Given the description of an element on the screen output the (x, y) to click on. 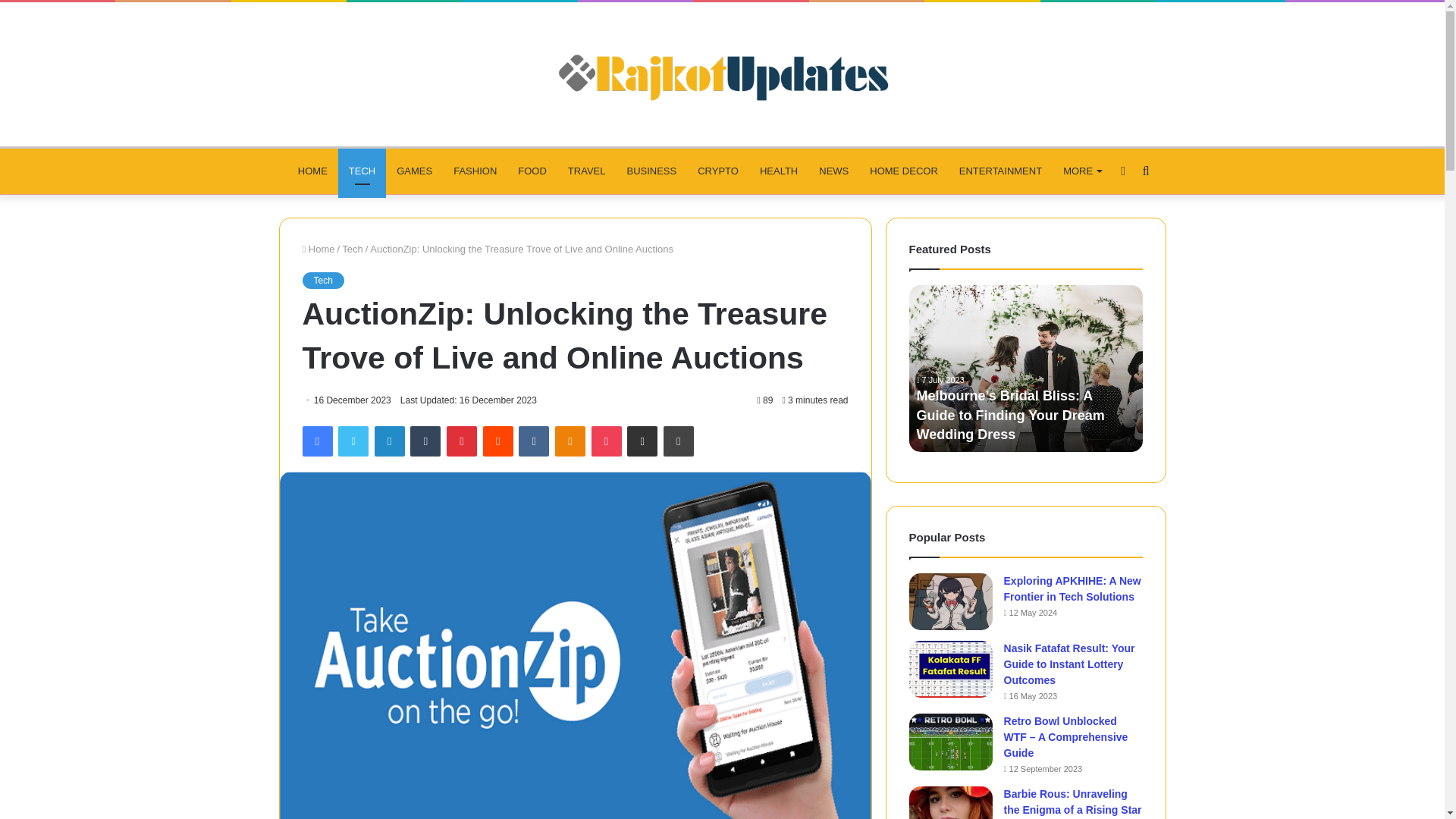
HEALTH (778, 171)
TECH (361, 171)
ENTERTAINMENT (1000, 171)
Twitter (352, 440)
LinkedIn (389, 440)
Pocket (606, 440)
Home (317, 248)
Twitter (352, 440)
Pinterest (461, 440)
BUSINESS (651, 171)
LinkedIn (389, 440)
Pocket (606, 440)
Odnoklassniki (569, 440)
Tumblr (425, 440)
Pinterest (461, 440)
